Given the description of an element on the screen output the (x, y) to click on. 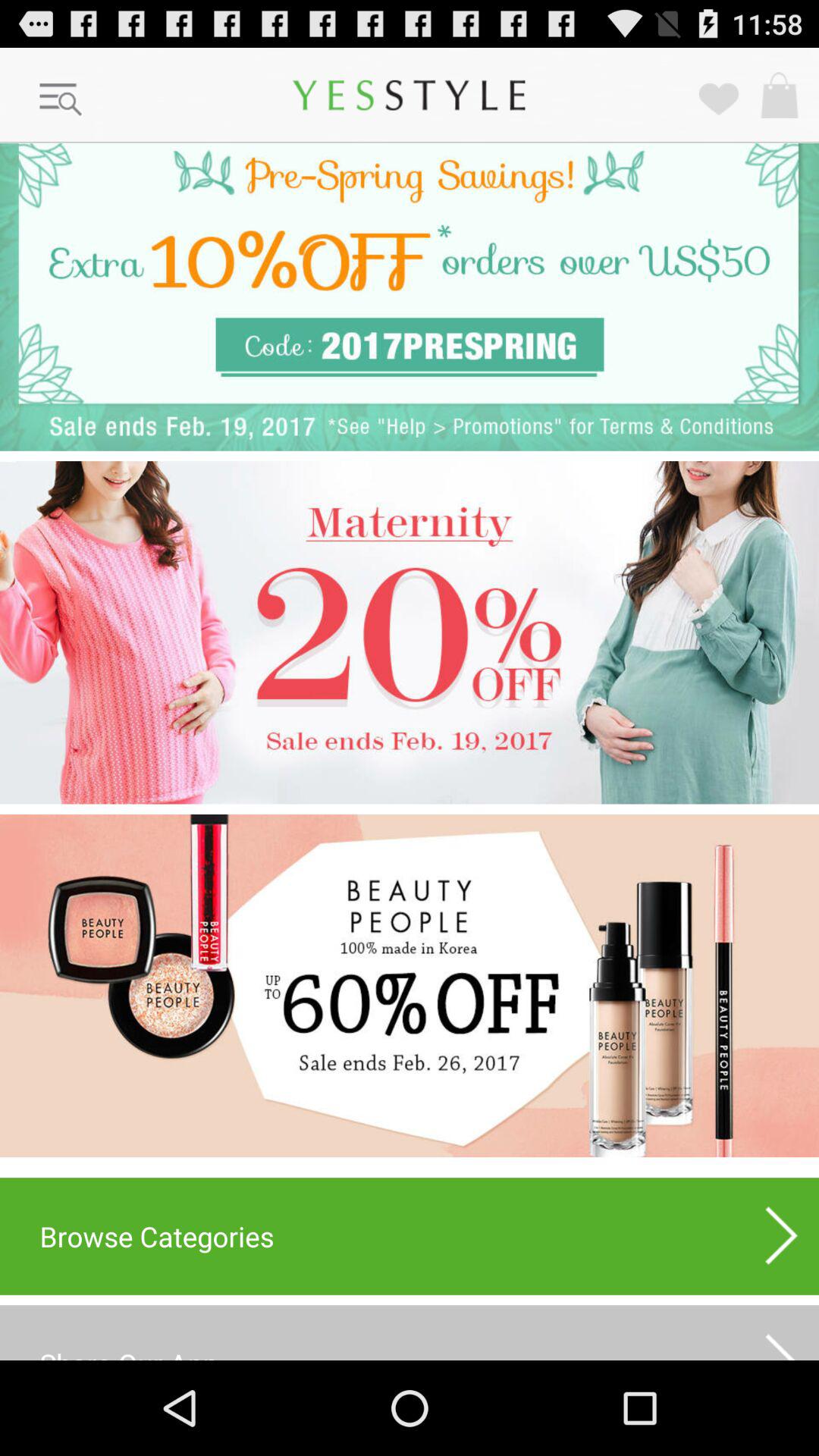
launch item above the share our app (782, 1235)
